Given the description of an element on the screen output the (x, y) to click on. 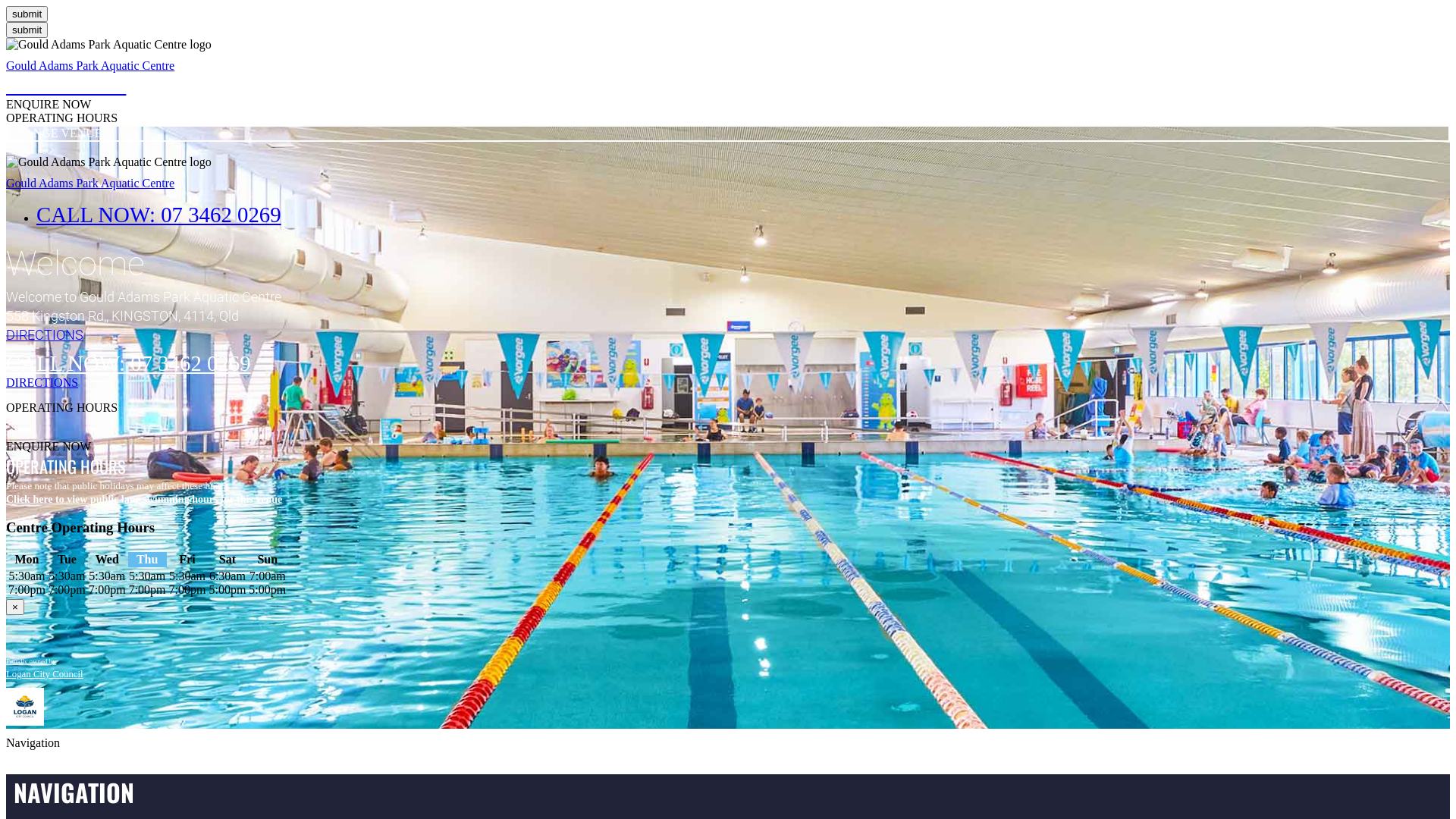
Gould Adams Park Aquatic Centre Element type: text (90, 65)
DIRECTIONS Element type: text (727, 334)
Proudly owned by
Logan City Council Element type: text (44, 667)
CALL NOW: 07 3462 0269 Element type: text (128, 363)
submit Element type: text (26, 13)
07 3462 0269 Element type: text (65, 84)
Click here to view public lane swimming hours for this venue Element type: text (144, 499)
submit Element type: text (26, 29)
DIRECTIONS Element type: text (727, 382)
CALL NOW: 07 3462 0269 Element type: text (158, 214)
Gould Adams Park Aquatic Centre Element type: text (90, 182)
